Given the description of an element on the screen output the (x, y) to click on. 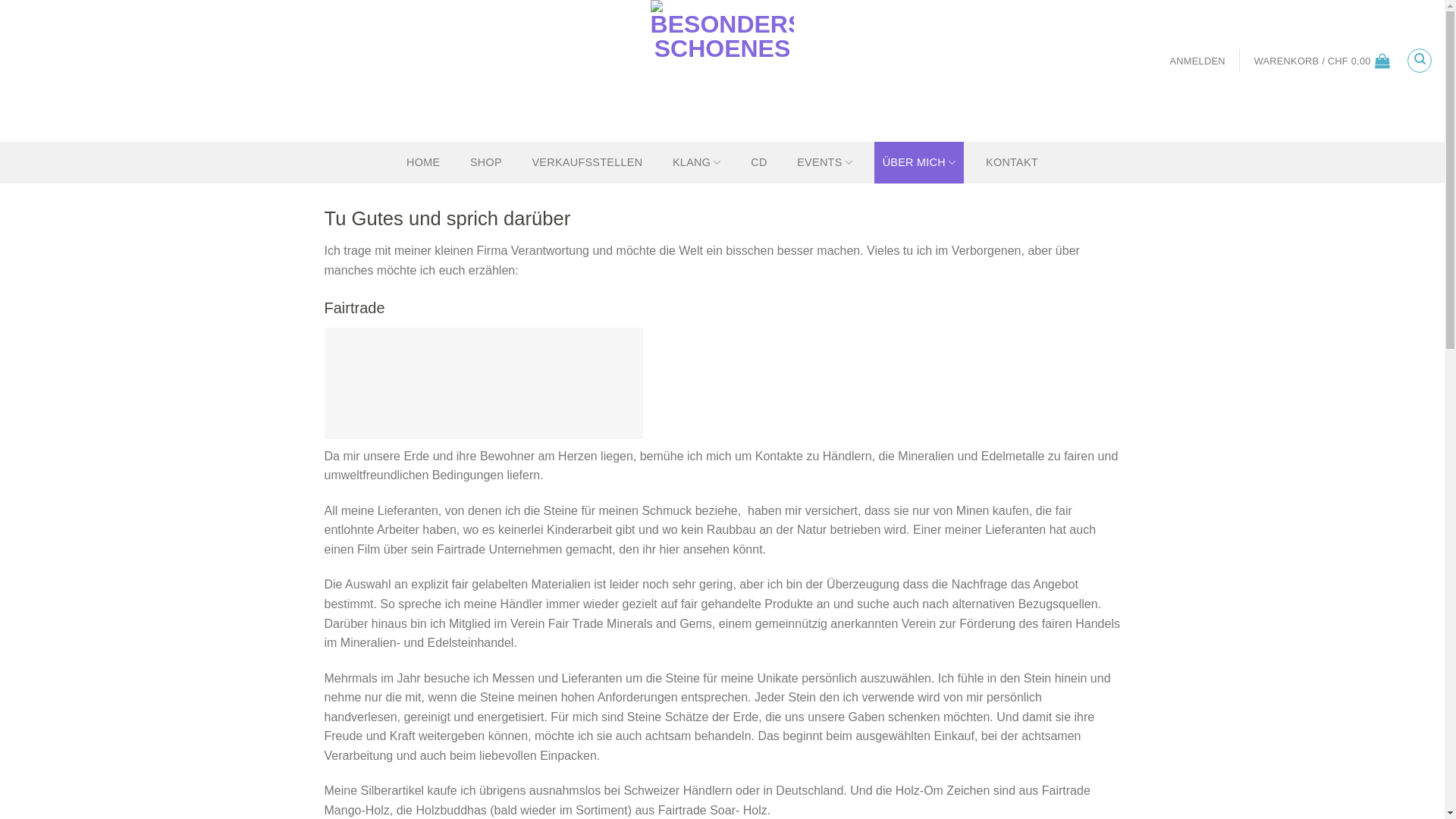
VERKAUFSSTELLEN Element type: text (587, 162)
WARENKORB / CHF 0,00 Element type: text (1322, 60)
ANMELDEN Element type: text (1197, 60)
HOME Element type: text (423, 162)
KLANG Element type: text (696, 162)
SHOP Element type: text (485, 162)
EVENTS Element type: text (823, 162)
KONTAKT Element type: text (1011, 162)
CD Element type: text (758, 162)
Besonders Schoenes Element type: hover (721, 70)
